Given the description of an element on the screen output the (x, y) to click on. 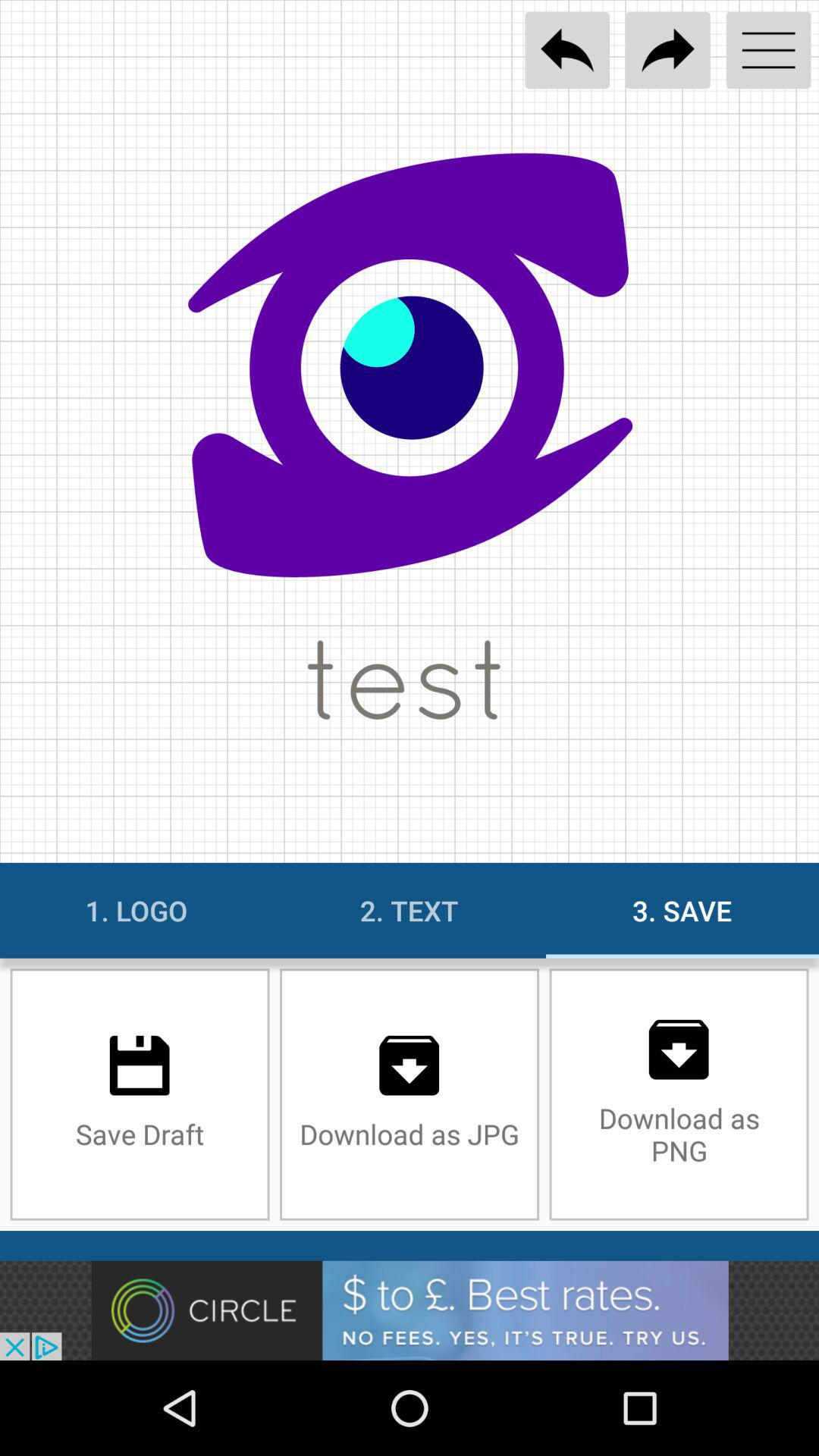
menu (768, 50)
